Given the description of an element on the screen output the (x, y) to click on. 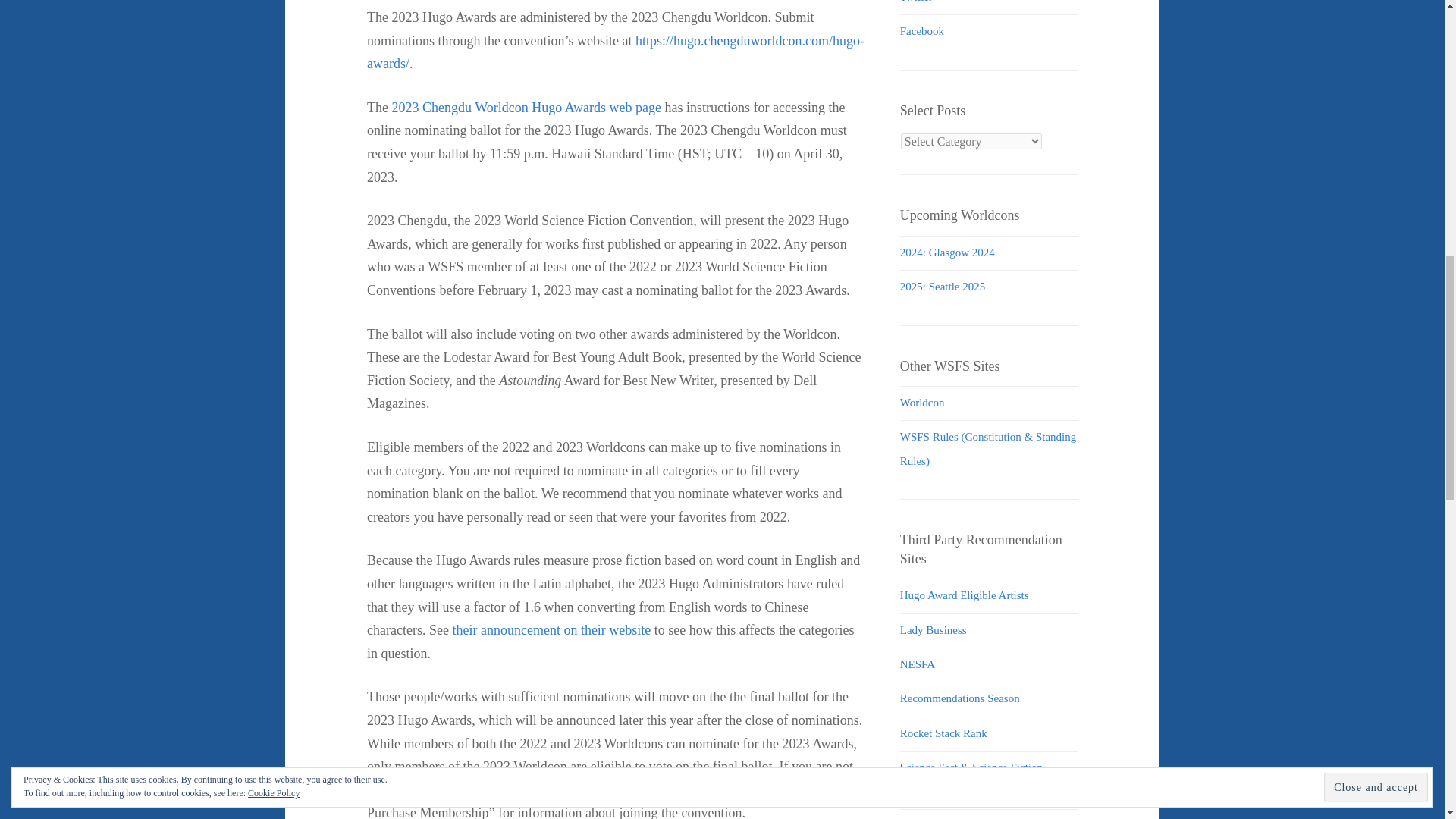
2023 Chengdu Website (674, 789)
Award recommendation page from Lady Business (932, 630)
2023 Chengdu Worldcon Hugo Awards web page (526, 107)
Glasgow, Scotland, August 8-12, 2024 (946, 252)
their announcement on their website (550, 630)
